Given the description of an element on the screen output the (x, y) to click on. 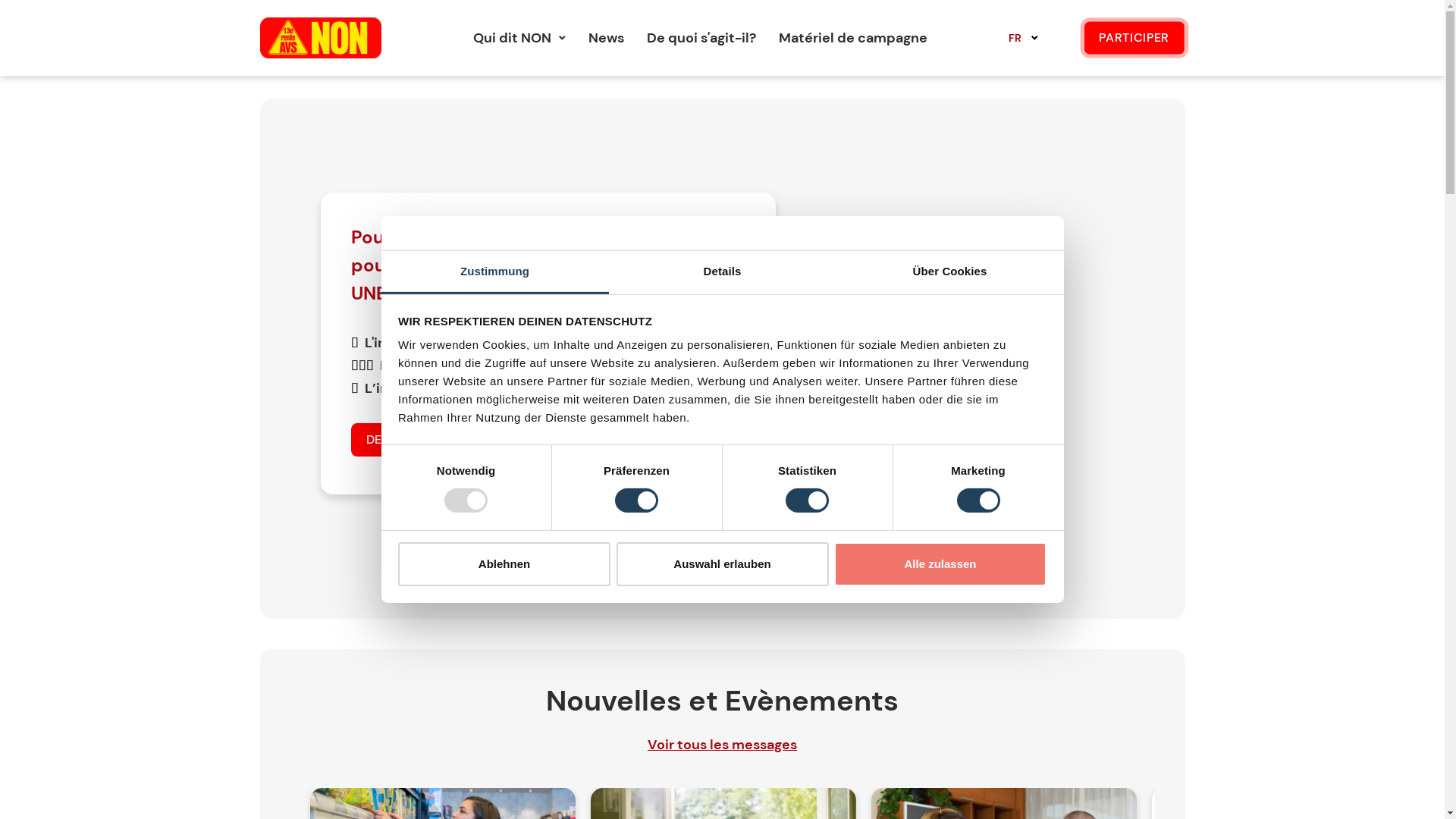
Aller au contenu principal Element type: text (0, 0)
De quoi s'agit-il? Element type: text (701, 37)
Zustimmung Element type: text (494, 272)
DE QUOI S'AGIT-IL? Element type: text (424, 439)
Alle zulassen Element type: text (940, 564)
Details Element type: text (721, 272)
News Element type: text (606, 37)
Auswahl erlauben Element type: text (721, 564)
Ablehnen Element type: text (504, 564)
Qui dit NON Element type: text (512, 37)
Voir tous les messages Element type: text (722, 744)
PARTICIPER Element type: text (1134, 37)
